Given the description of an element on the screen output the (x, y) to click on. 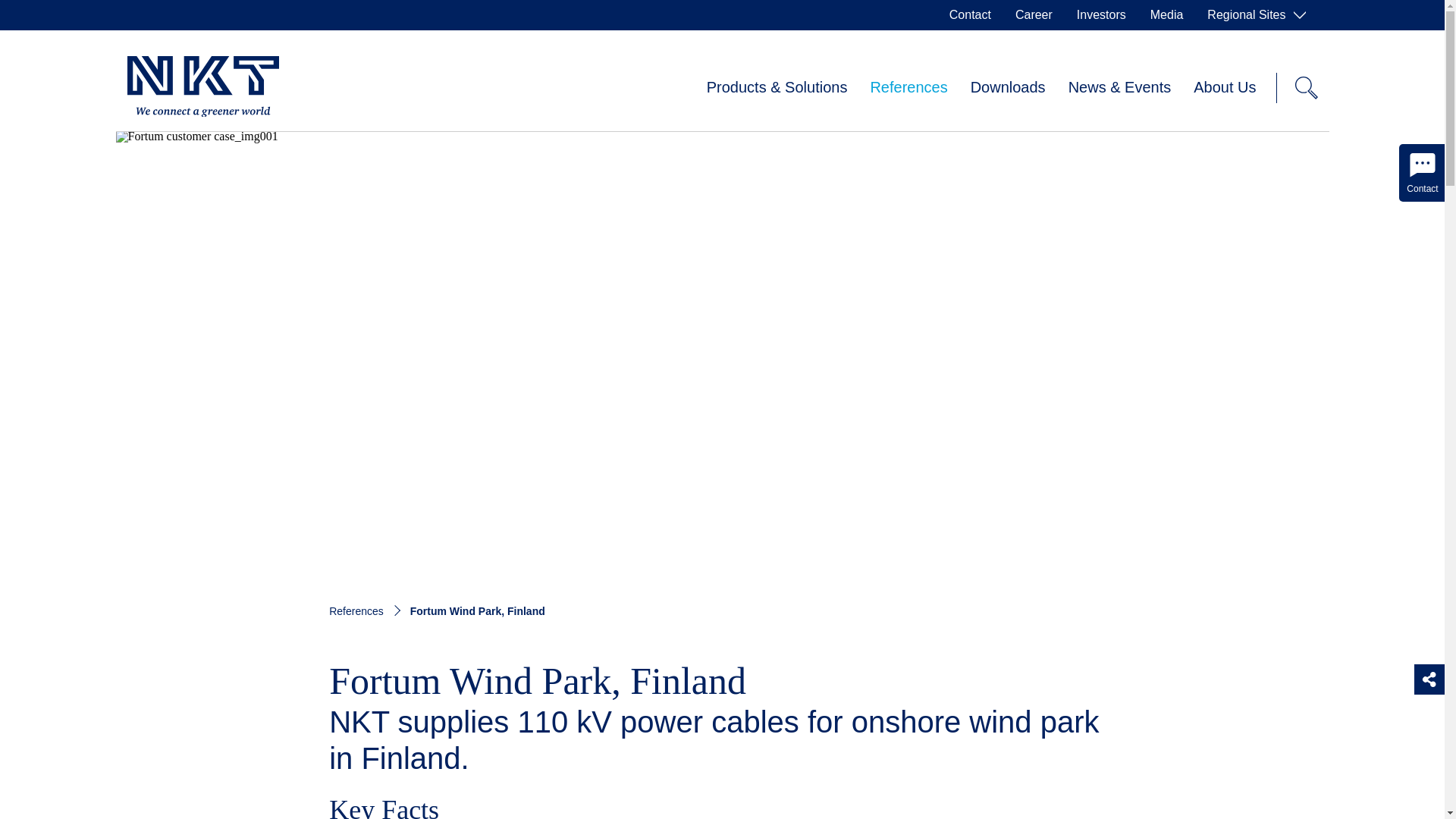
Career (1033, 15)
Media  (1166, 15)
Regional Sites (1256, 15)
Investors (1101, 15)
Media (1166, 15)
Downloads (1008, 87)
Contact (970, 15)
About Us (1224, 87)
References (908, 87)
To the homepage (203, 87)
Contact (970, 15)
Investors (1101, 15)
Career (1033, 15)
